Given the description of an element on the screen output the (x, y) to click on. 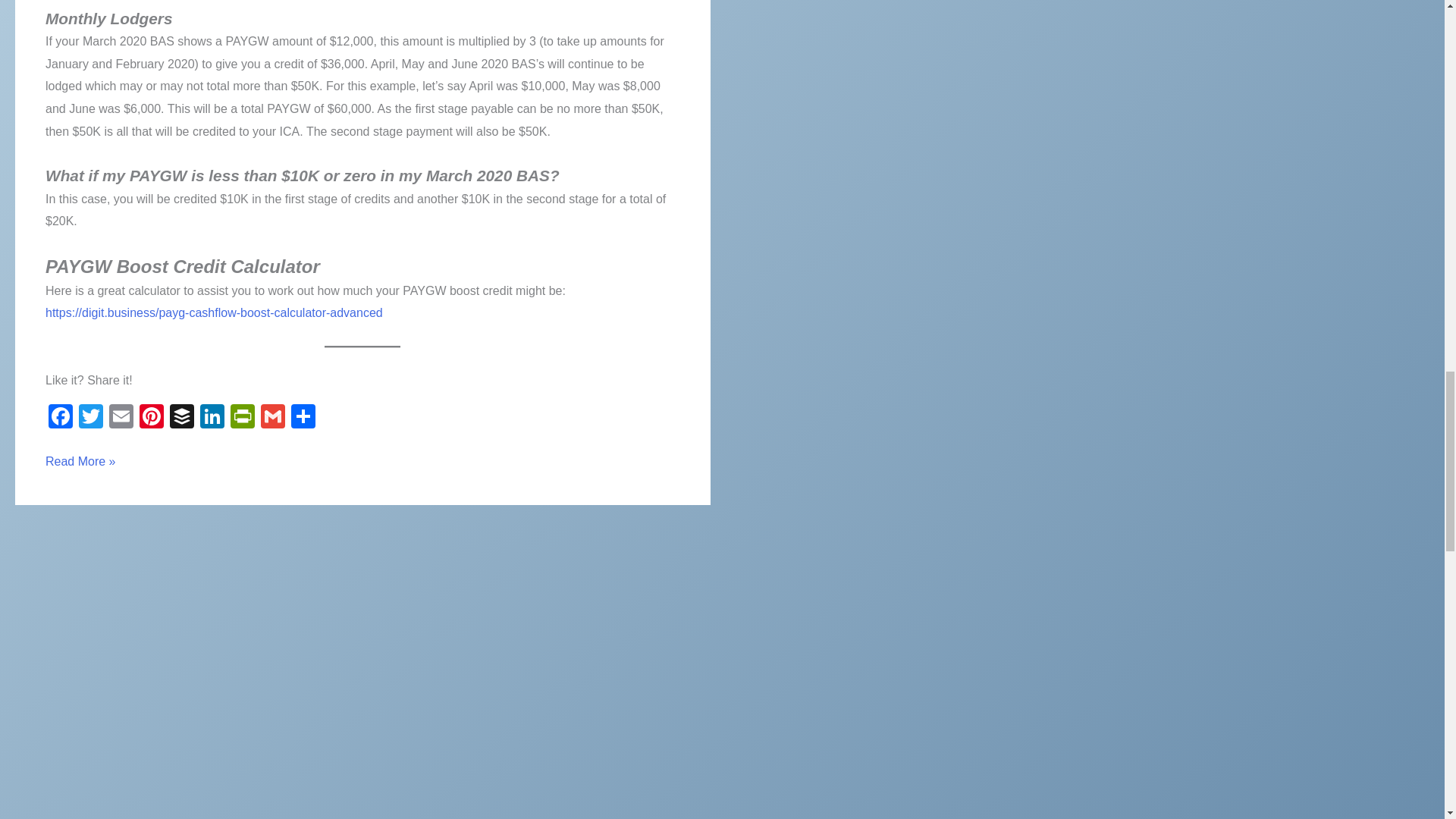
Email (121, 418)
Twitter (90, 418)
PrintFriendly (242, 418)
Email (121, 418)
Gmail (272, 418)
Pinterest (151, 418)
Facebook (60, 418)
Twitter (90, 418)
LinkedIn (211, 418)
Share (303, 418)
PrintFriendly (242, 418)
Gmail (272, 418)
LinkedIn (211, 418)
Buffer (181, 418)
Facebook (60, 418)
